Given the description of an element on the screen output the (x, y) to click on. 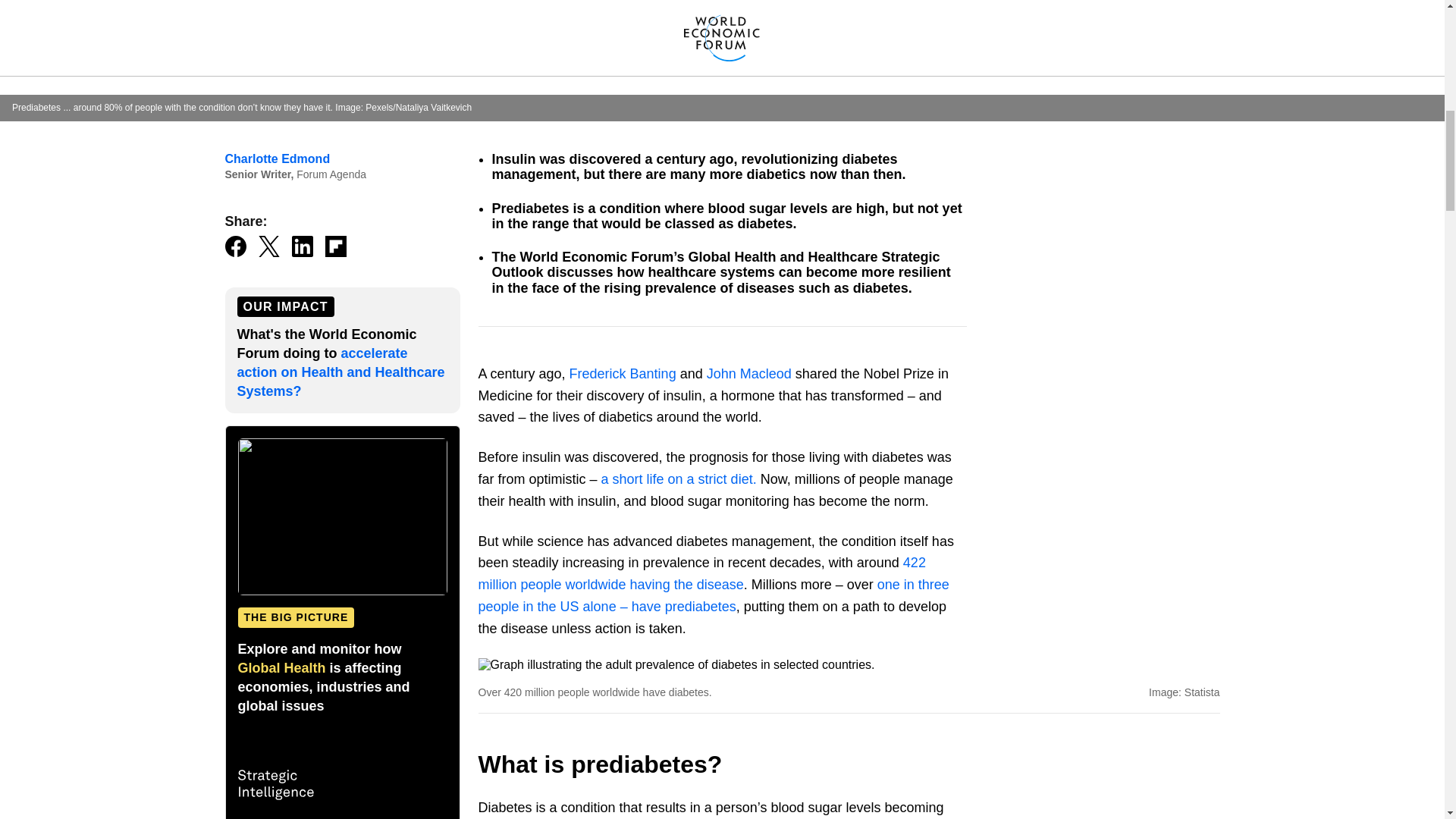
422 million people worldwide having the disease (700, 573)
a short life on a strict diet. (679, 478)
Frederick Banting (623, 373)
John Macleod (749, 373)
Charlotte Edmond (277, 158)
